Given the description of an element on the screen output the (x, y) to click on. 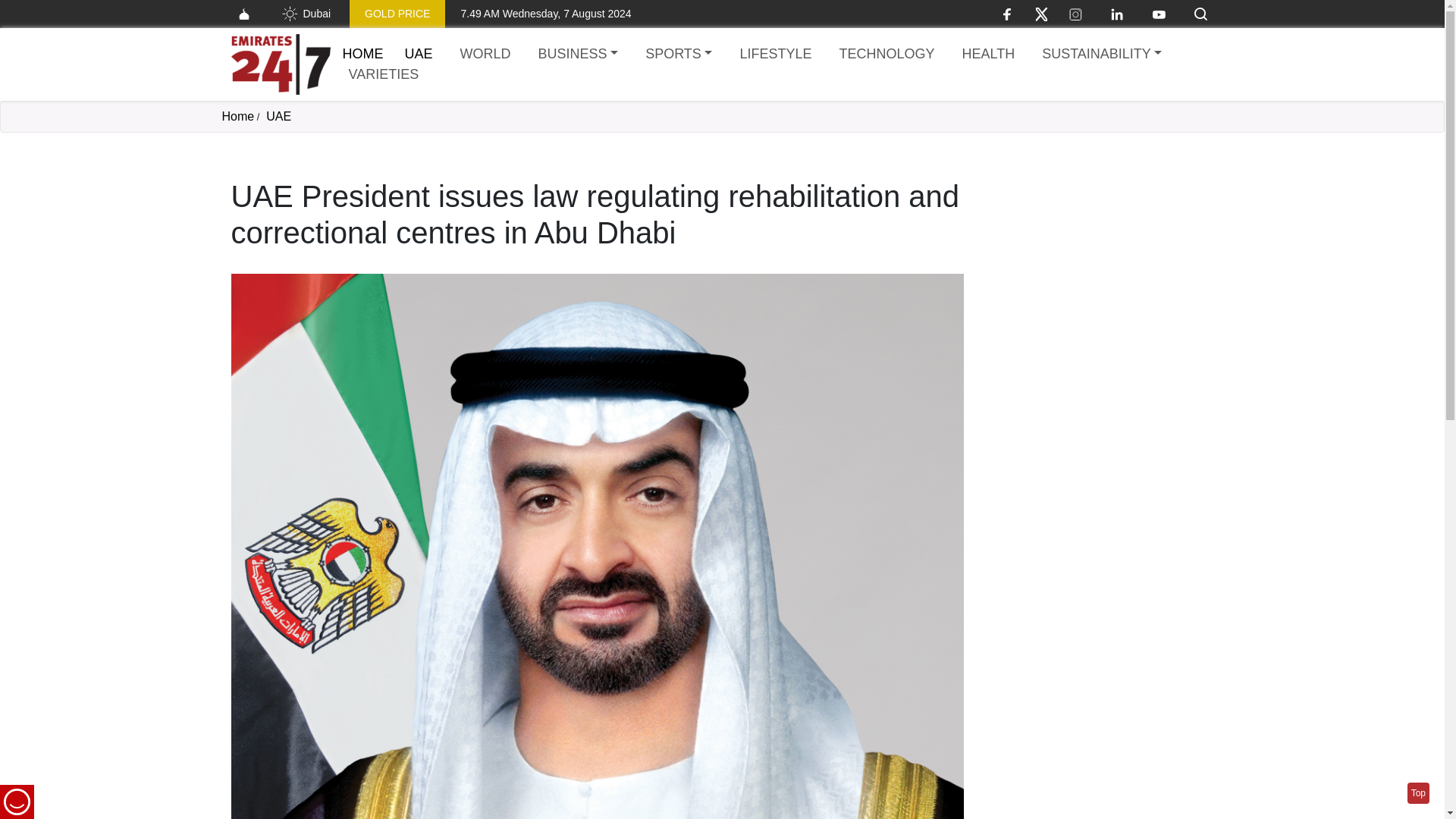
WORLD (485, 54)
Home (237, 115)
SPORTS (678, 54)
HOME (363, 53)
Home (363, 53)
GOLD PRICE (397, 13)
Home (280, 64)
Dubai (305, 13)
Go to top (1418, 792)
VARIETIES (383, 74)
